Given the description of an element on the screen output the (x, y) to click on. 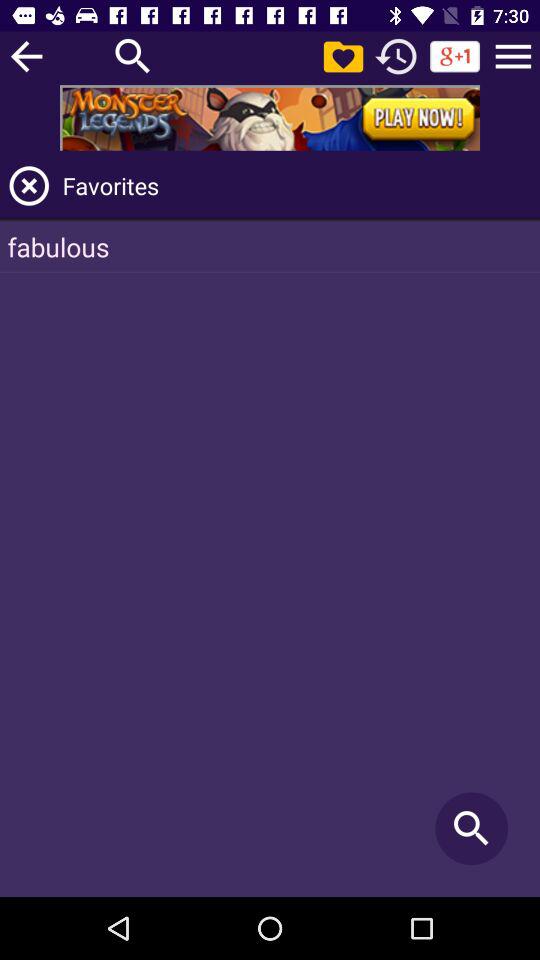
go to advertisement (270, 117)
